Given the description of an element on the screen output the (x, y) to click on. 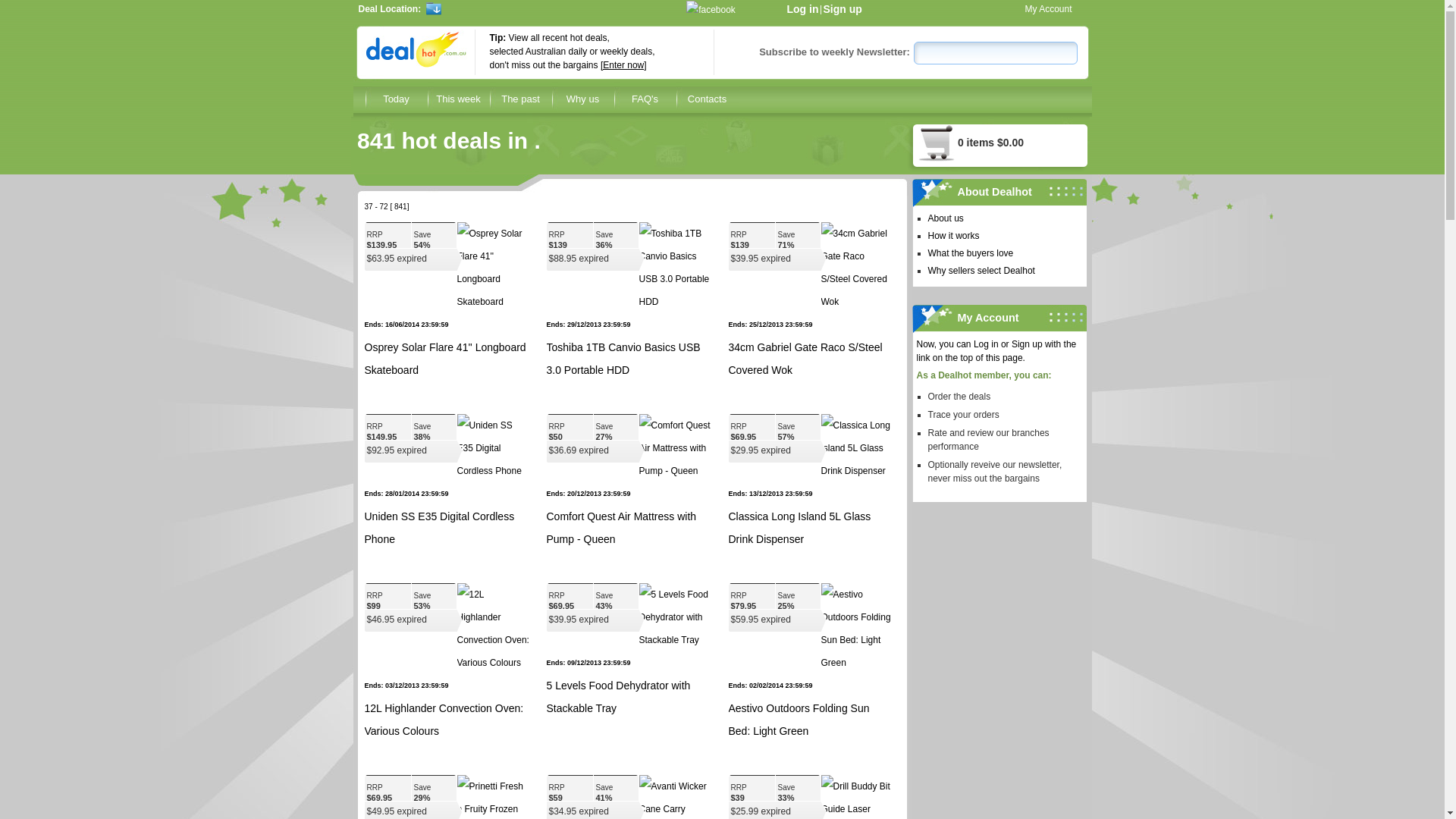
Why sellers select Dealhot Element type: text (1003, 269)
Classica Long Island 5L Glass Drink Dispenser Element type: text (799, 527)
Aestivo Outdoors Folding Sun Bed: Light Green Element type: text (798, 719)
Uniden SS E35 Digital Cordless Phone Element type: text (439, 527)
What the buyers love Element type: text (1003, 252)
This week Element type: text (458, 98)
Toshiba 1TB Canvio Basics USB 3.0 Portable HDD Element type: text (622, 358)
Sign up Element type: text (842, 9)
Today Element type: text (396, 98)
12L Highlander Convection Oven: Various Colours Element type: text (443, 719)
My Account Element type: text (1048, 7)
Comfort Quest Air Mattress with Pump - Queen Element type: text (621, 527)
[Enter now] Element type: text (623, 64)
5 Levels Food Dehydrator with Stackable Tray Element type: text (618, 696)
The past Element type: text (520, 98)
FAQ's Element type: text (645, 98)
Log in Element type: text (803, 9)
Why us Element type: text (583, 98)
Deal Location: Element type: text (479, 7)
34cm Gabriel Gate Raco S/Steel Covered Wok Element type: text (804, 358)
How it works Element type: text (1003, 235)
Osprey Solar Flare 41'' Longboard Skateboard Element type: text (444, 358)
Contacts Element type: text (707, 98)
About us Element type: text (1003, 217)
